Given the description of an element on the screen output the (x, y) to click on. 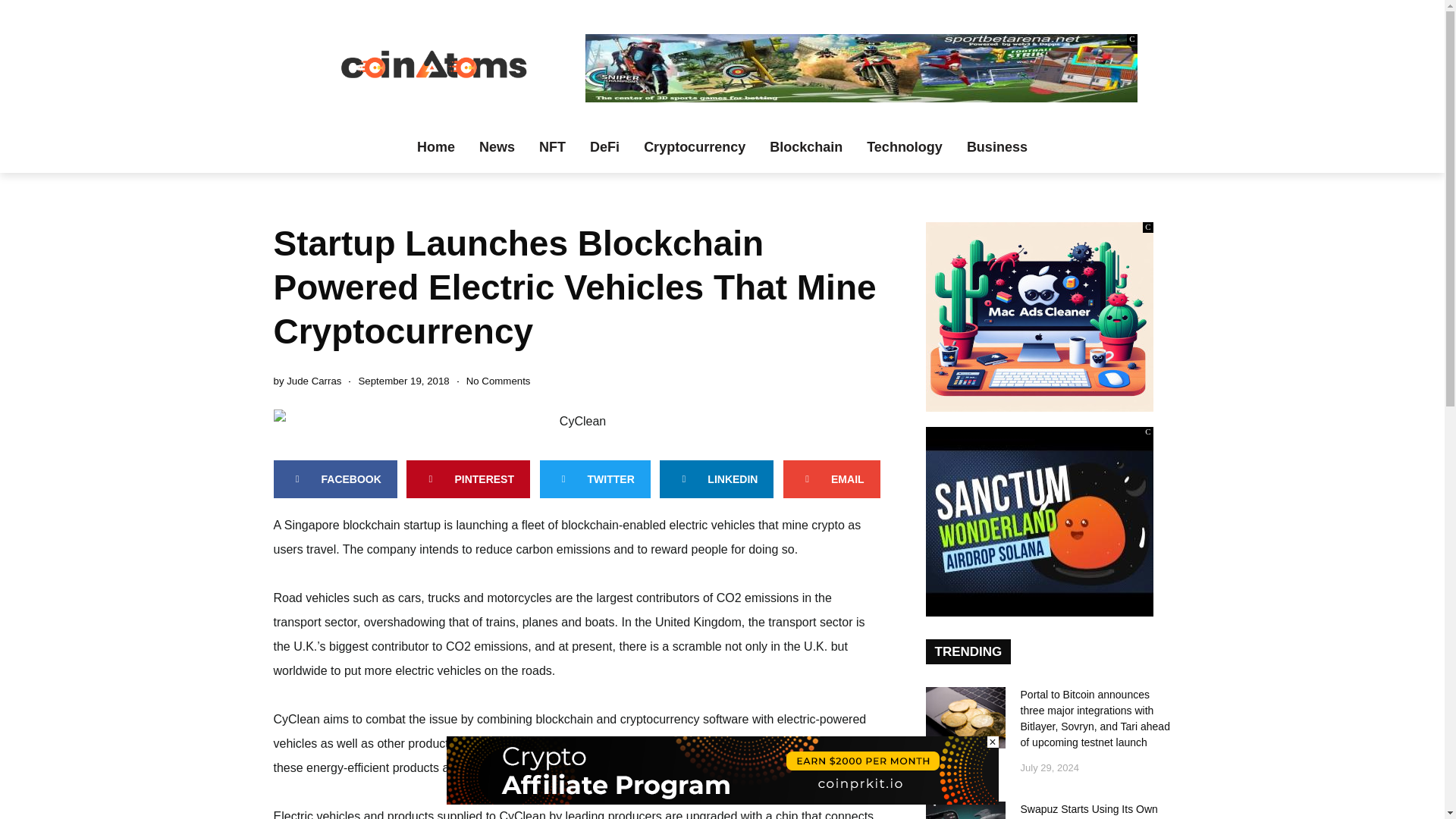
NFT (552, 146)
close (992, 741)
Blockchain (805, 146)
DeFi (604, 146)
CyClean (576, 421)
Home (435, 146)
Technology (904, 146)
News (497, 146)
Business (997, 146)
Cryptocurrency (694, 146)
